Given the description of an element on the screen output the (x, y) to click on. 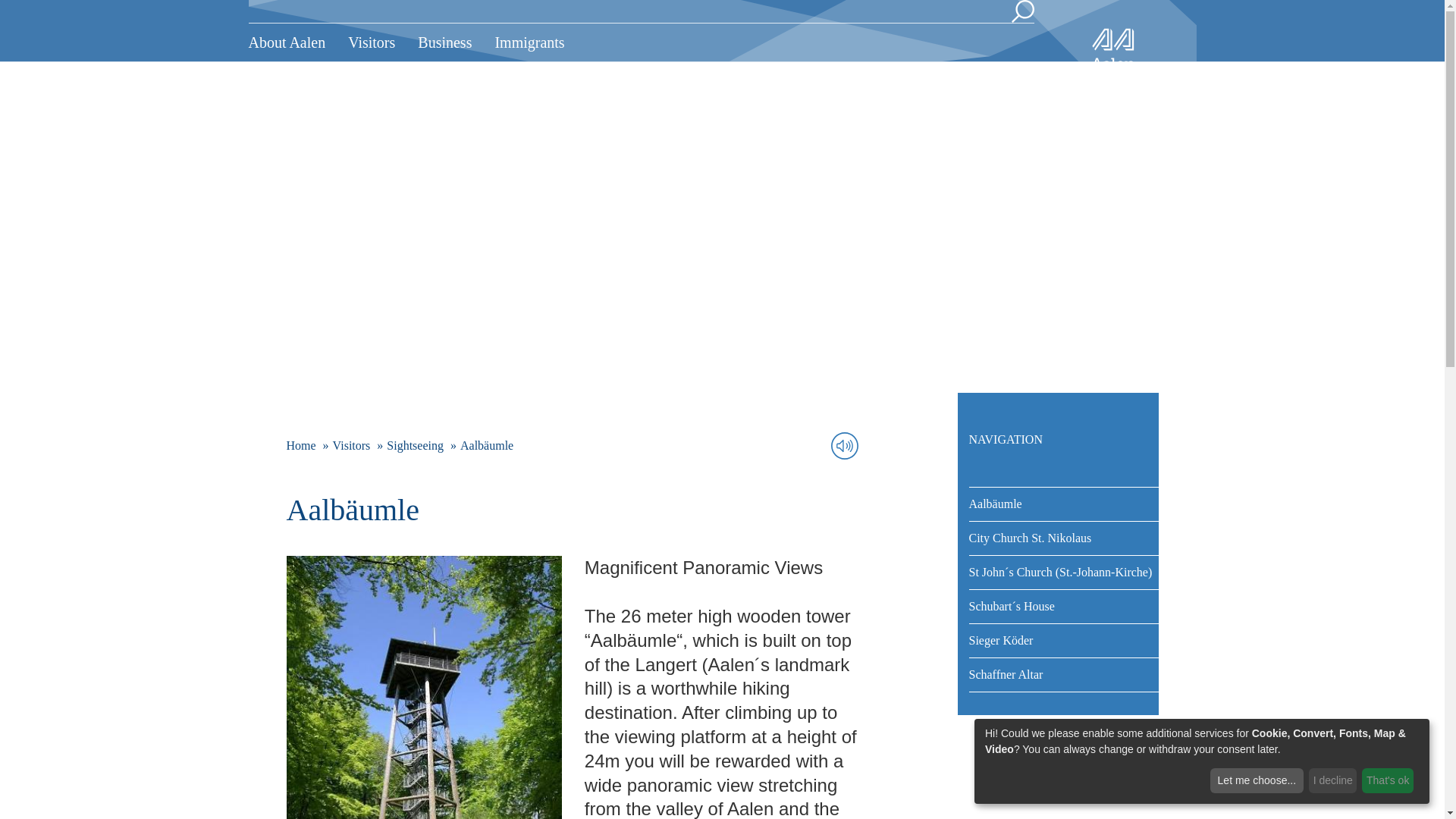
Suche (1022, 11)
Direkt zur Navigation springen (6, 6)
About Aalen (292, 42)
Visitors (371, 42)
Vorlesen (844, 445)
